Given the description of an element on the screen output the (x, y) to click on. 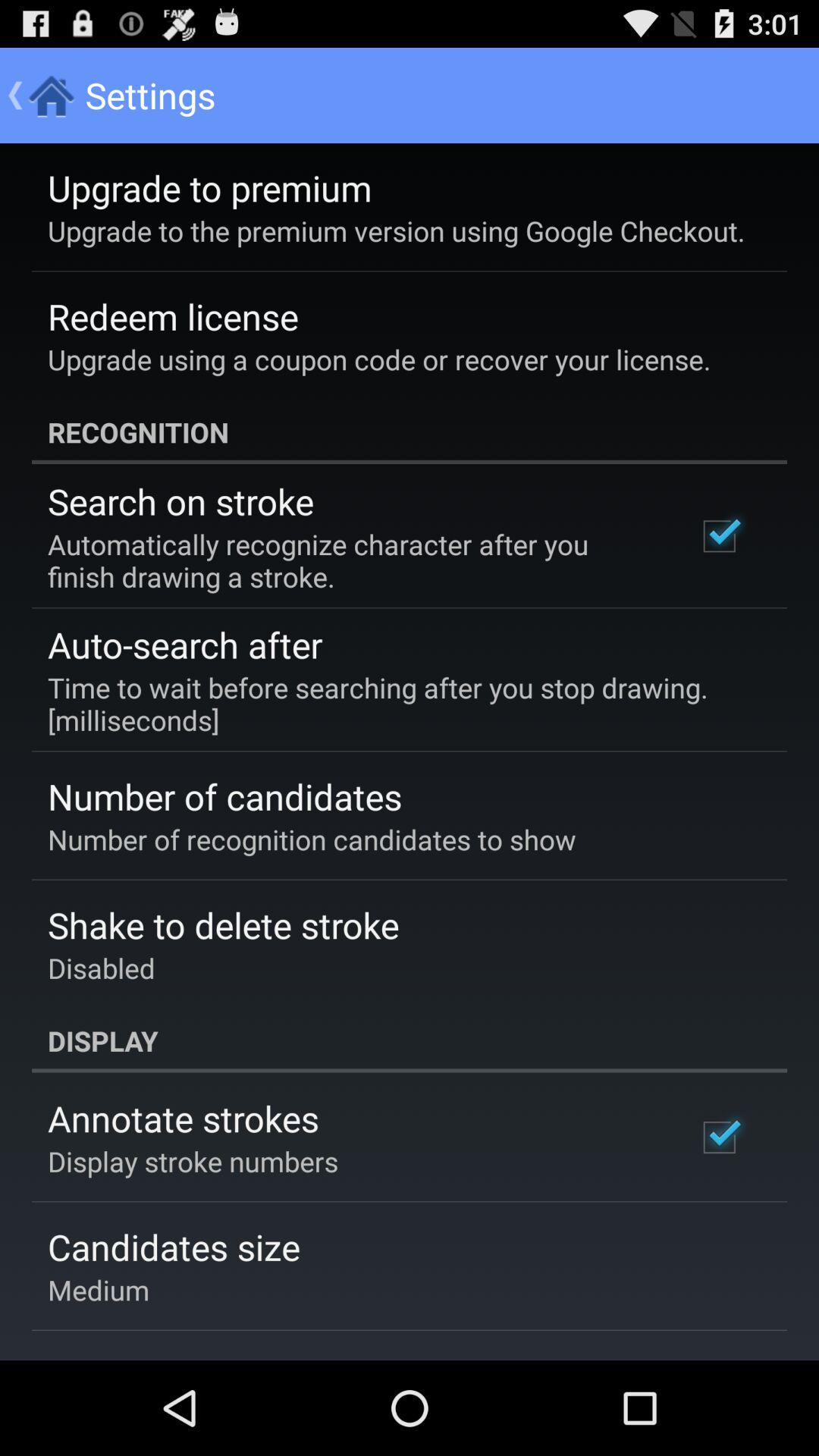
press the item above the auto-search after (351, 560)
